Given the description of an element on the screen output the (x, y) to click on. 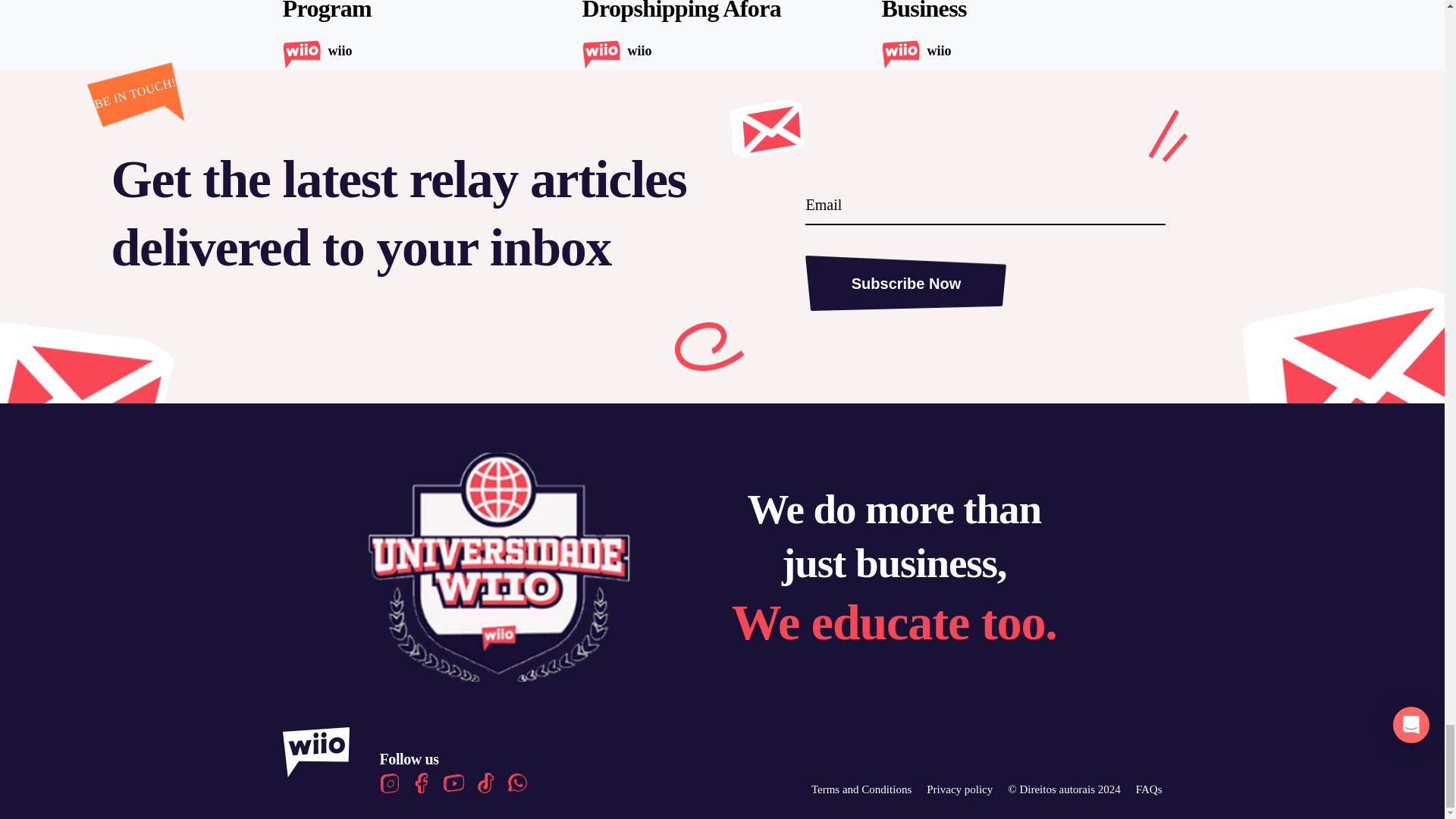
Privacy policy (959, 788)
FAQs (1148, 788)
Terms and Conditions (860, 788)
Subscribe Now (905, 282)
Subscribe Now (905, 282)
